Given the description of an element on the screen output the (x, y) to click on. 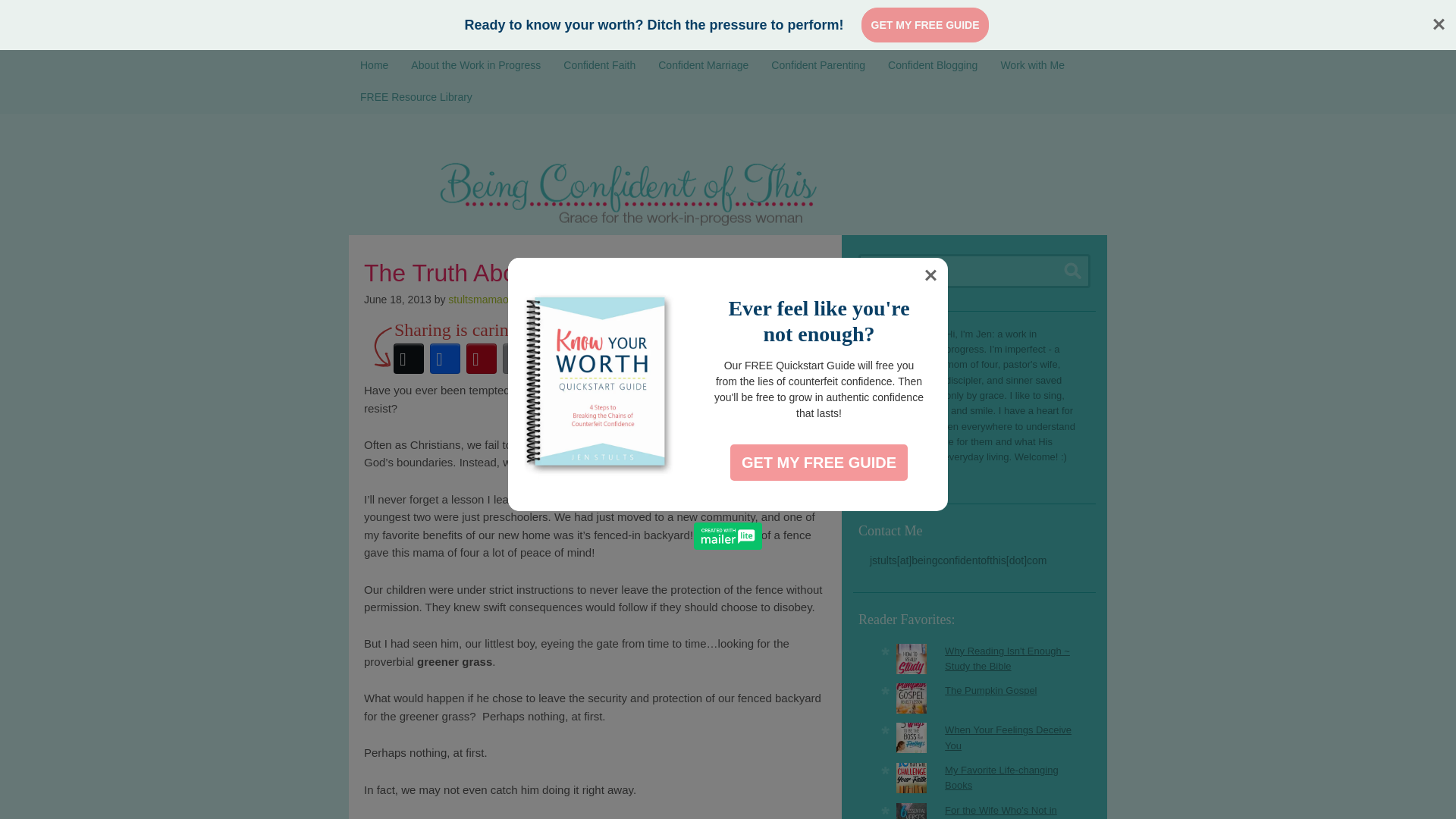
Home (373, 65)
Confident Faith (598, 65)
Confident Marriage (703, 65)
18 Comments (562, 299)
Email This (517, 358)
More Options (553, 358)
Work with Me (1031, 65)
Being Confident Of This (727, 190)
Facebook (444, 358)
FREE Resource Library (416, 97)
Pinterest (481, 358)
Confident Blogging (932, 65)
The Truth About Greener Grass (533, 272)
About the Work in Progress (474, 65)
Confident Parenting (818, 65)
